Given the description of an element on the screen output the (x, y) to click on. 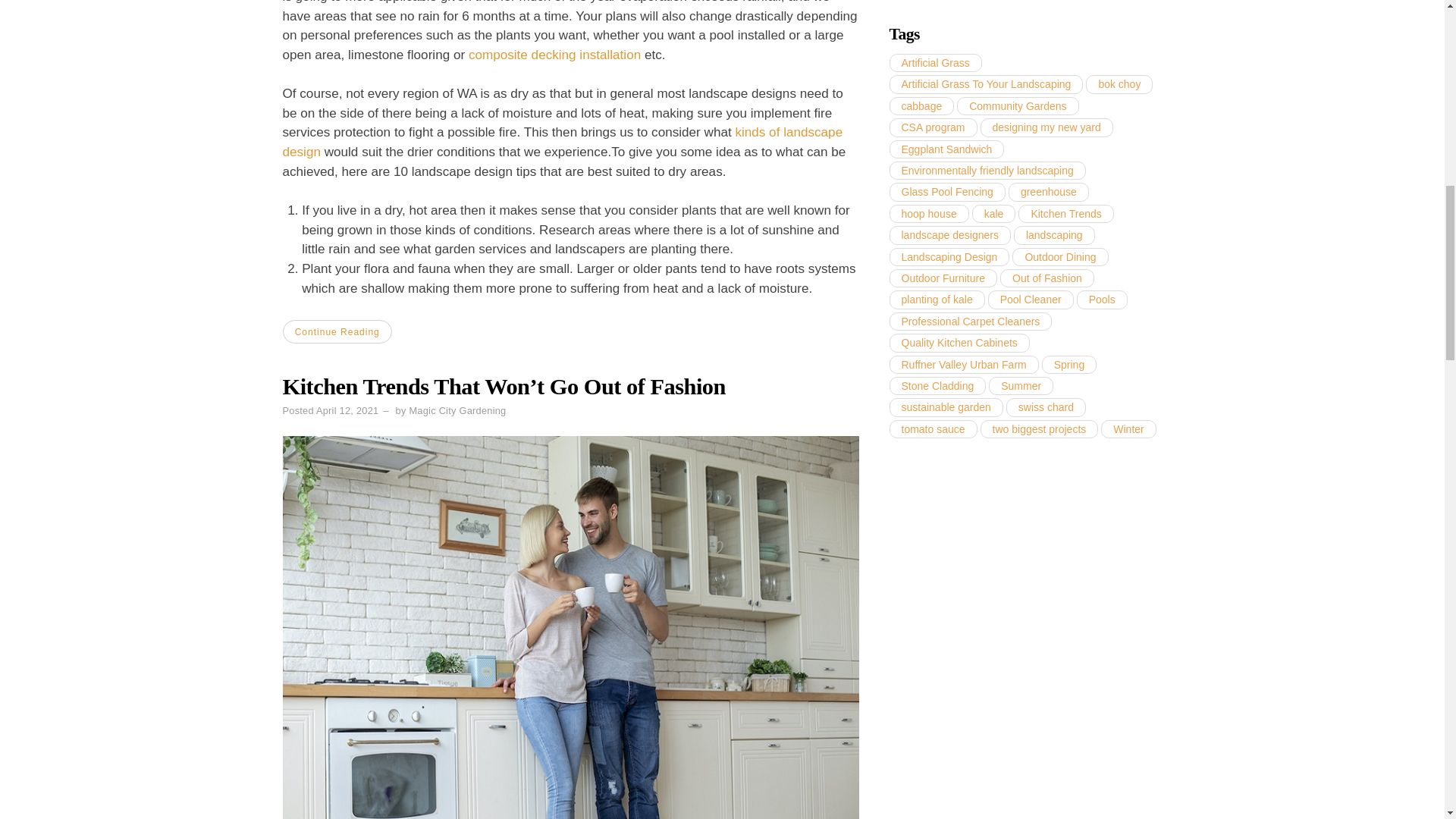
Magic City Gardening (457, 410)
composite decking installation (554, 54)
April 12, 2021 (346, 410)
kinds of landscape design (562, 141)
Continue Reading (336, 331)
